Given the description of an element on the screen output the (x, y) to click on. 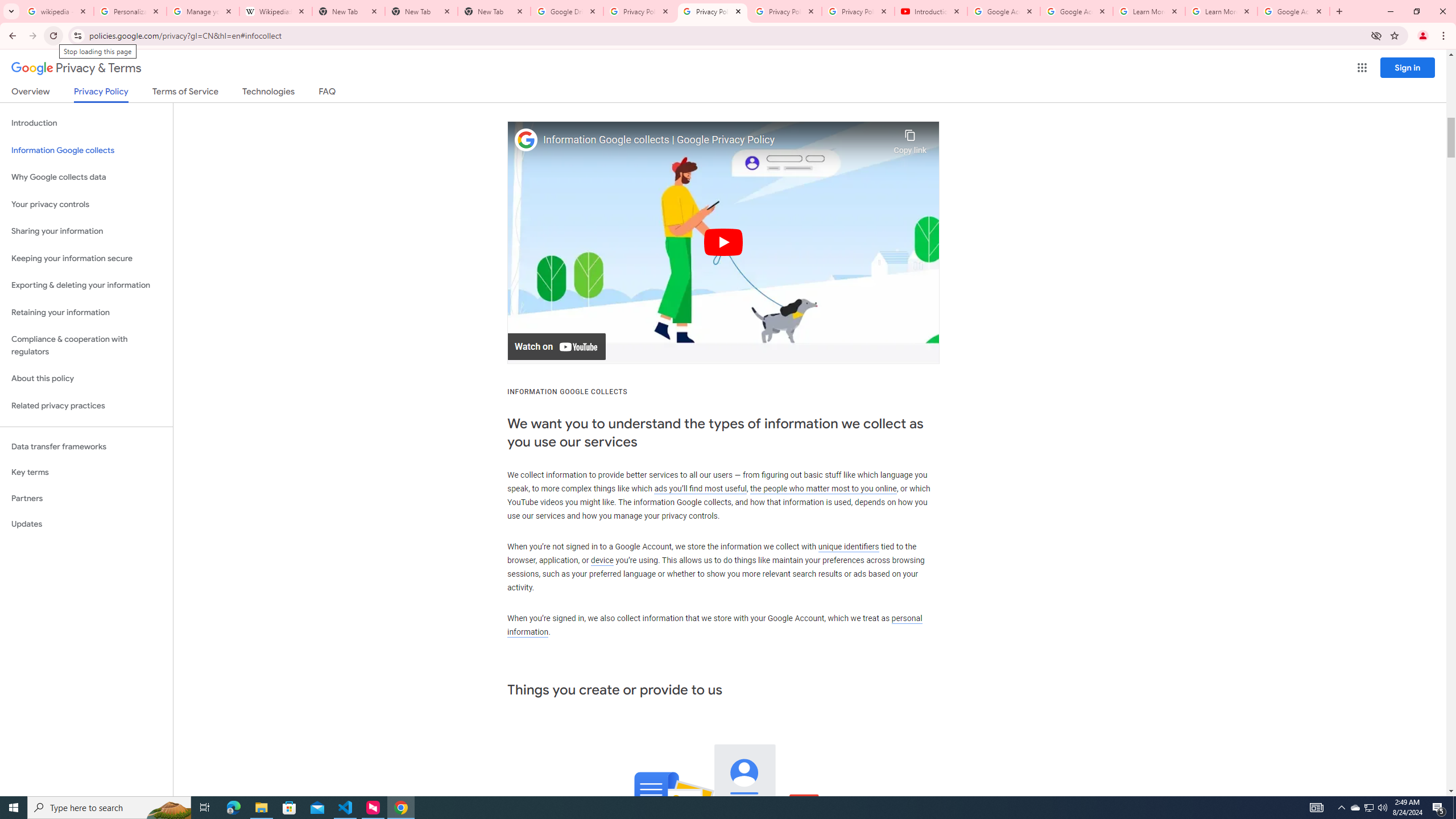
the people who matter most to you online (822, 488)
Introduction (86, 122)
Overview (30, 93)
Terms of Service (184, 93)
Information Google collects | Google Privacy Policy (715, 140)
Copy link (909, 139)
Partners (86, 497)
New Tab (493, 11)
Your privacy controls (86, 204)
Google Account Help (1003, 11)
Introduction | Google Privacy Policy - YouTube (930, 11)
